Given the description of an element on the screen output the (x, y) to click on. 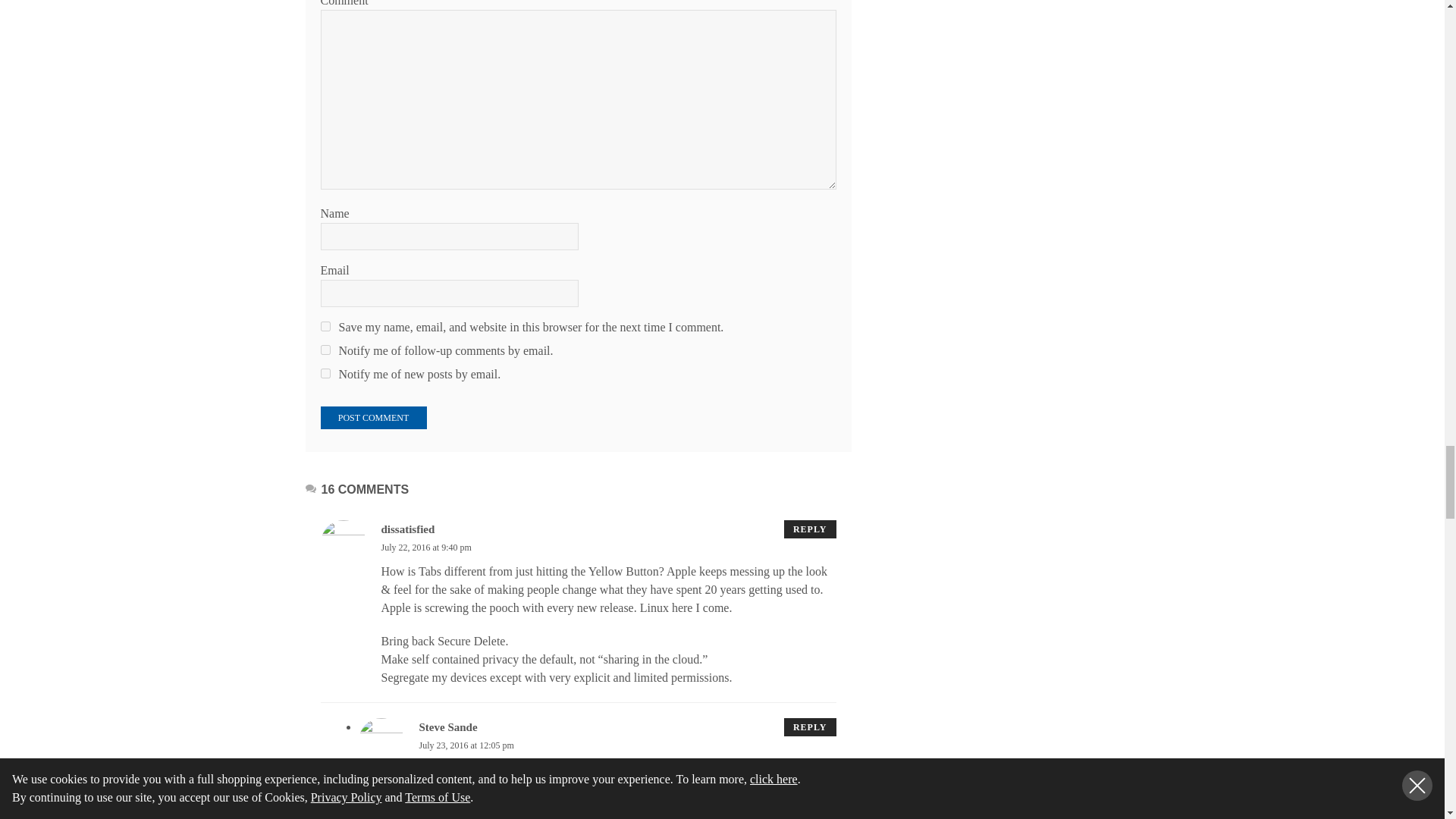
subscribe (325, 349)
Post Comment (373, 417)
yes (325, 326)
subscribe (325, 373)
